Given the description of an element on the screen output the (x, y) to click on. 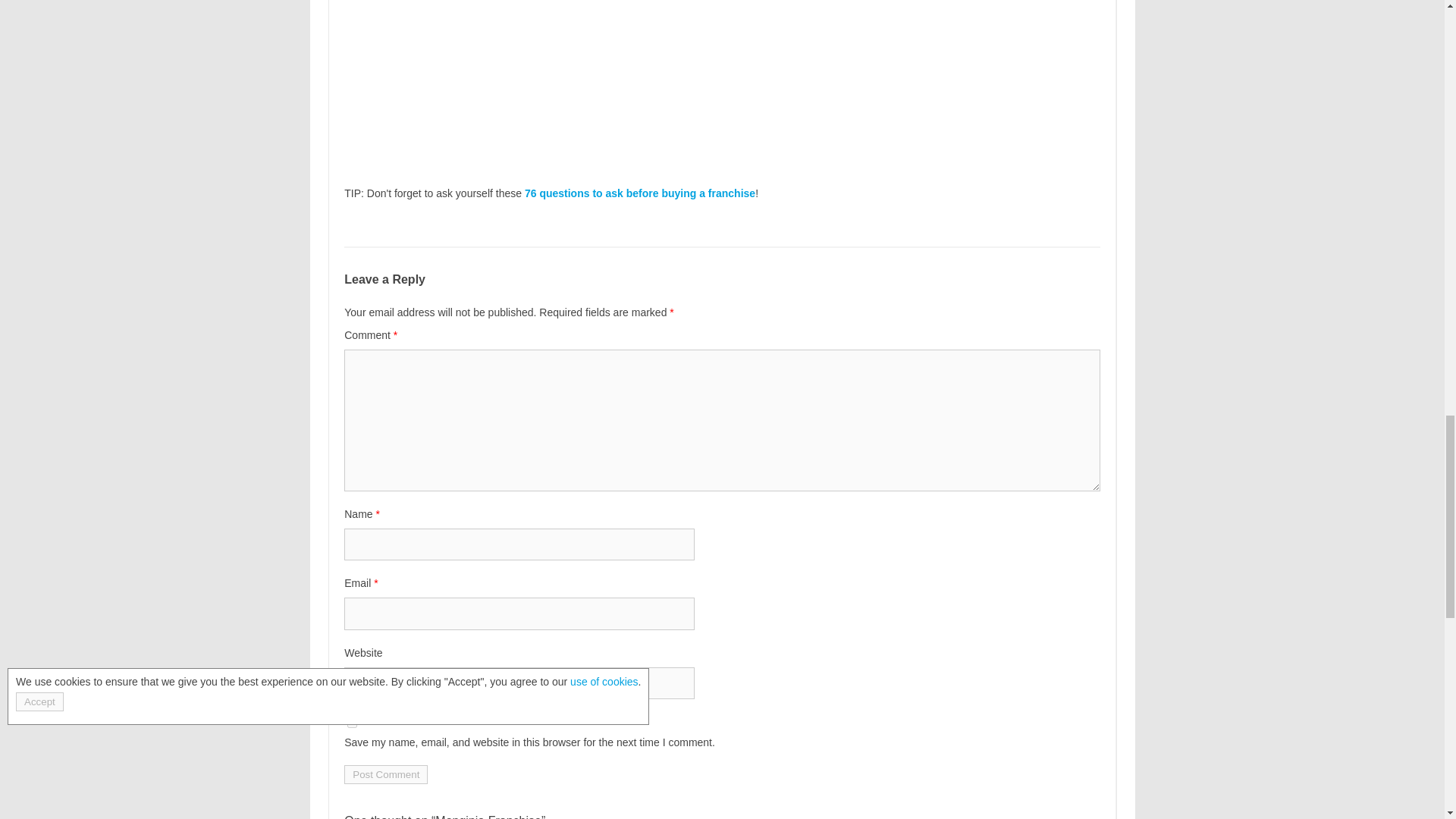
Post Comment (385, 773)
yes (351, 723)
Post Comment (385, 773)
Advertisement (721, 79)
Questions to ask before buying a franchise (639, 193)
76 questions to ask before buying a franchise (639, 193)
